Given the description of an element on the screen output the (x, y) to click on. 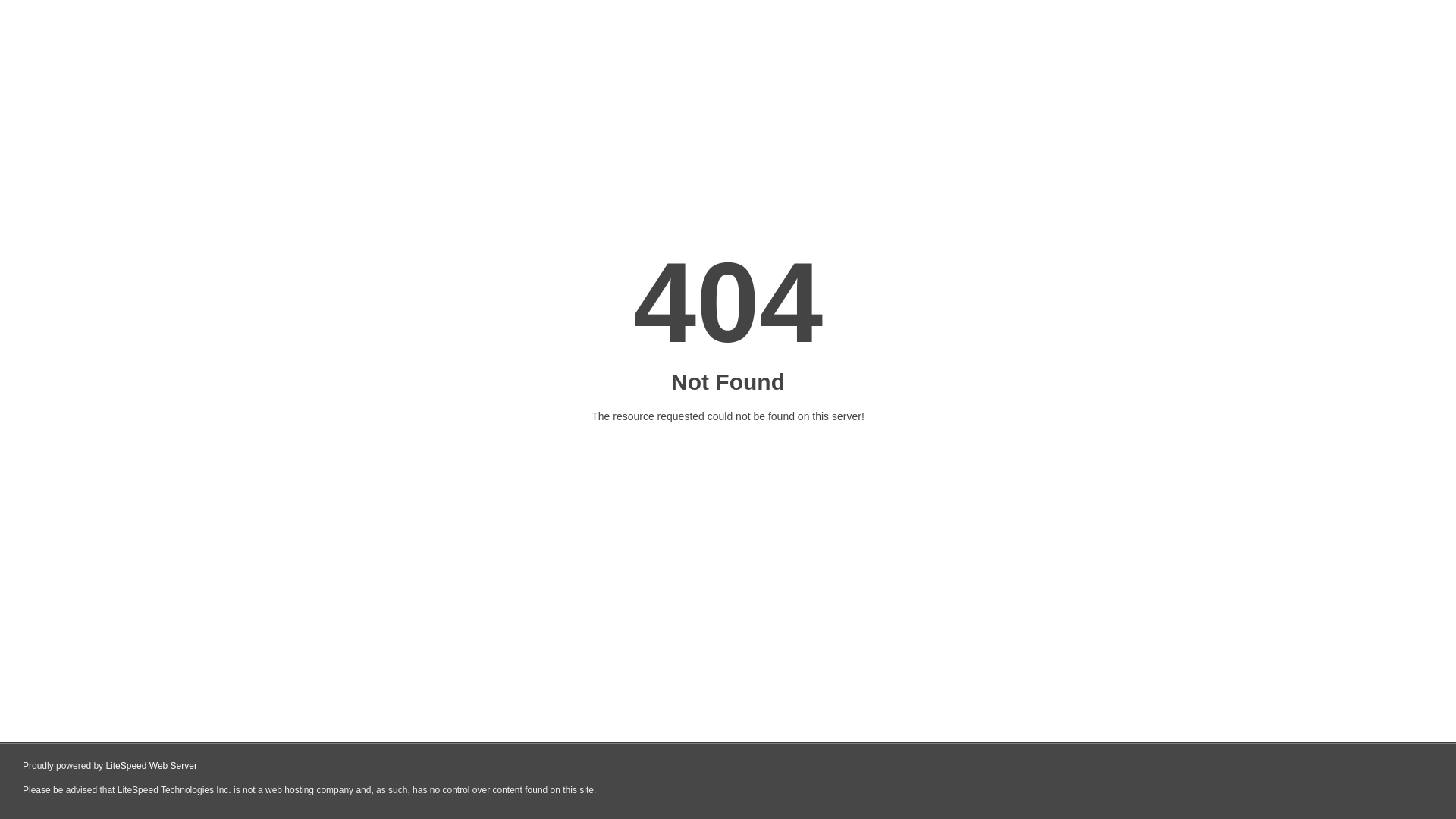
LiteSpeed Web Server Element type: text (151, 765)
